Given the description of an element on the screen output the (x, y) to click on. 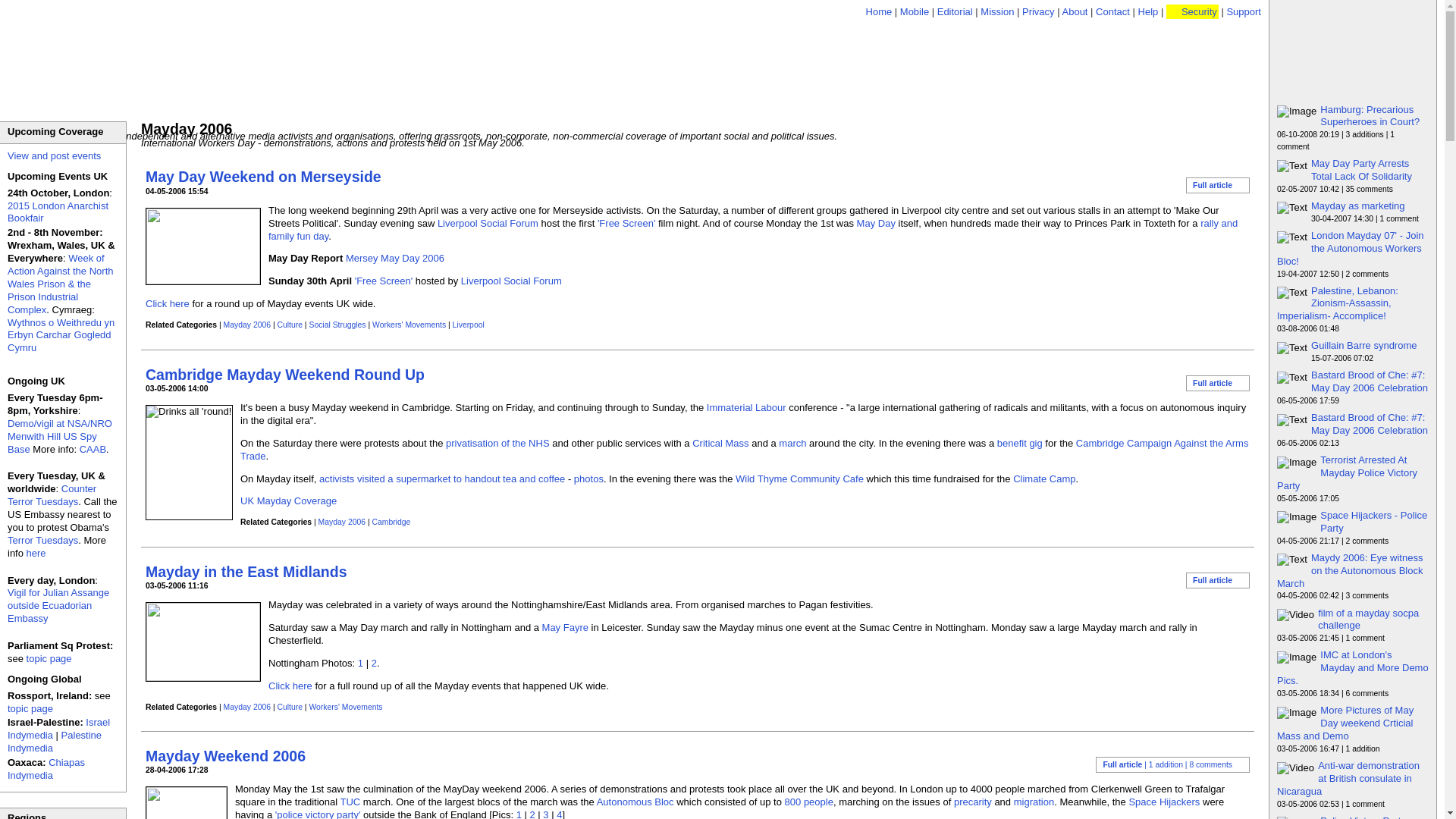
'Free Screen' (626, 223)
Full article (1217, 185)
'Free Screen' (384, 280)
Liverpool Social Forum (488, 223)
Cambridge Campaign Against the Arms Trade (743, 449)
Workers' Movements (408, 325)
Mersey May Day 2006 (395, 257)
privatisation of the NHS (497, 442)
Mayday 2006 (247, 325)
photos (588, 478)
Editorial (954, 11)
Privacy (1038, 11)
Home (879, 11)
May Day (876, 223)
Cambridge Mayday Weekend Round Up (285, 373)
